Given the description of an element on the screen output the (x, y) to click on. 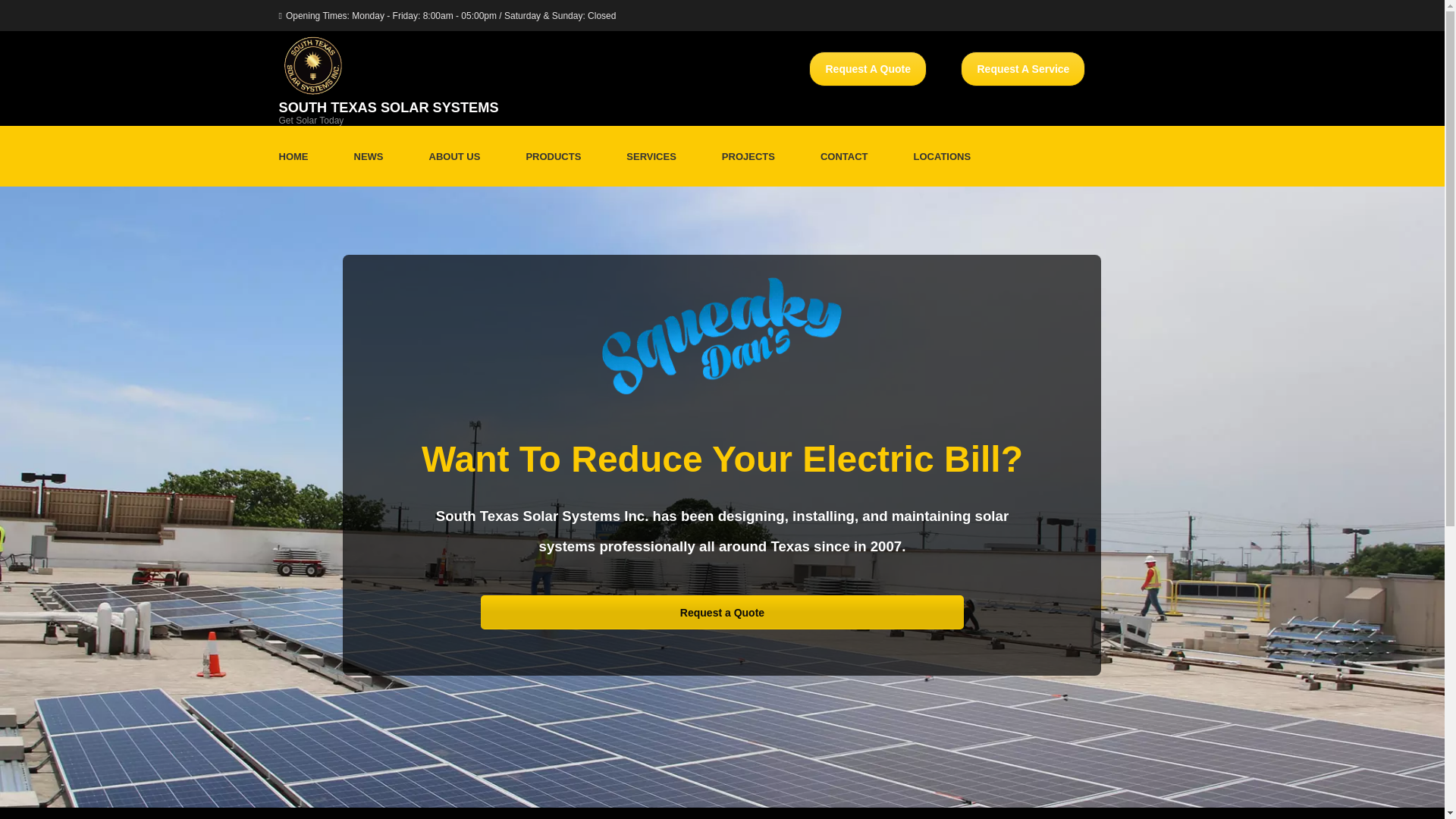
PROJECTS (748, 156)
PRODUCTS (552, 156)
Get Solar Today (311, 120)
SOUTH TEXAS SOLAR SYSTEMS (389, 107)
Request A Service (1022, 68)
Request A Quote (867, 68)
HOME (293, 156)
LOCATIONS (942, 156)
NEWS (367, 156)
SERVICES (651, 156)
ABOUT US (454, 156)
CONTACT (844, 156)
